Given the description of an element on the screen output the (x, y) to click on. 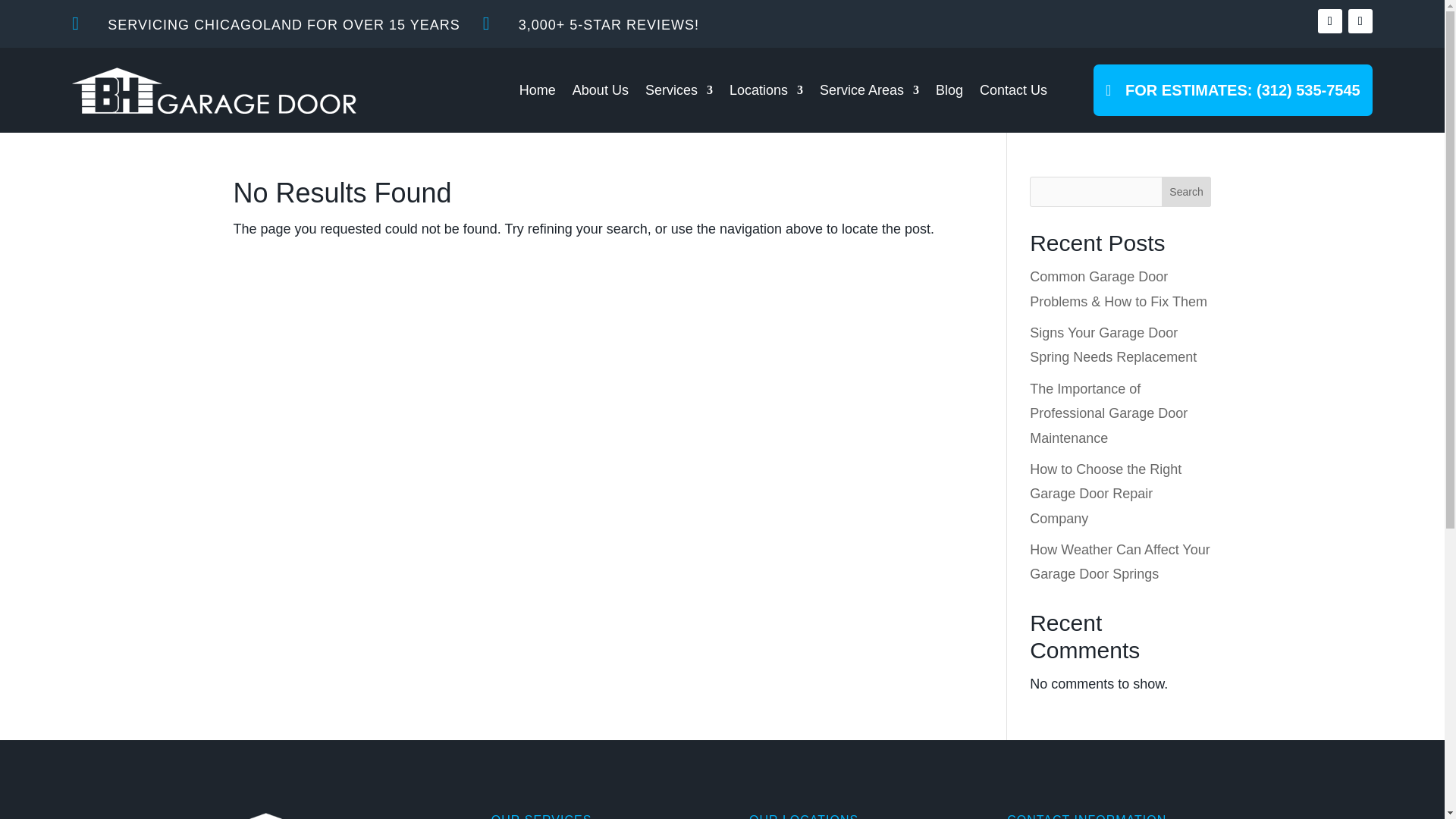
Follow on Facebook (1329, 21)
About Us (600, 89)
Service Areas (868, 89)
Services (679, 89)
Follow on Instagram (1360, 21)
Locations (766, 89)
